Given the description of an element on the screen output the (x, y) to click on. 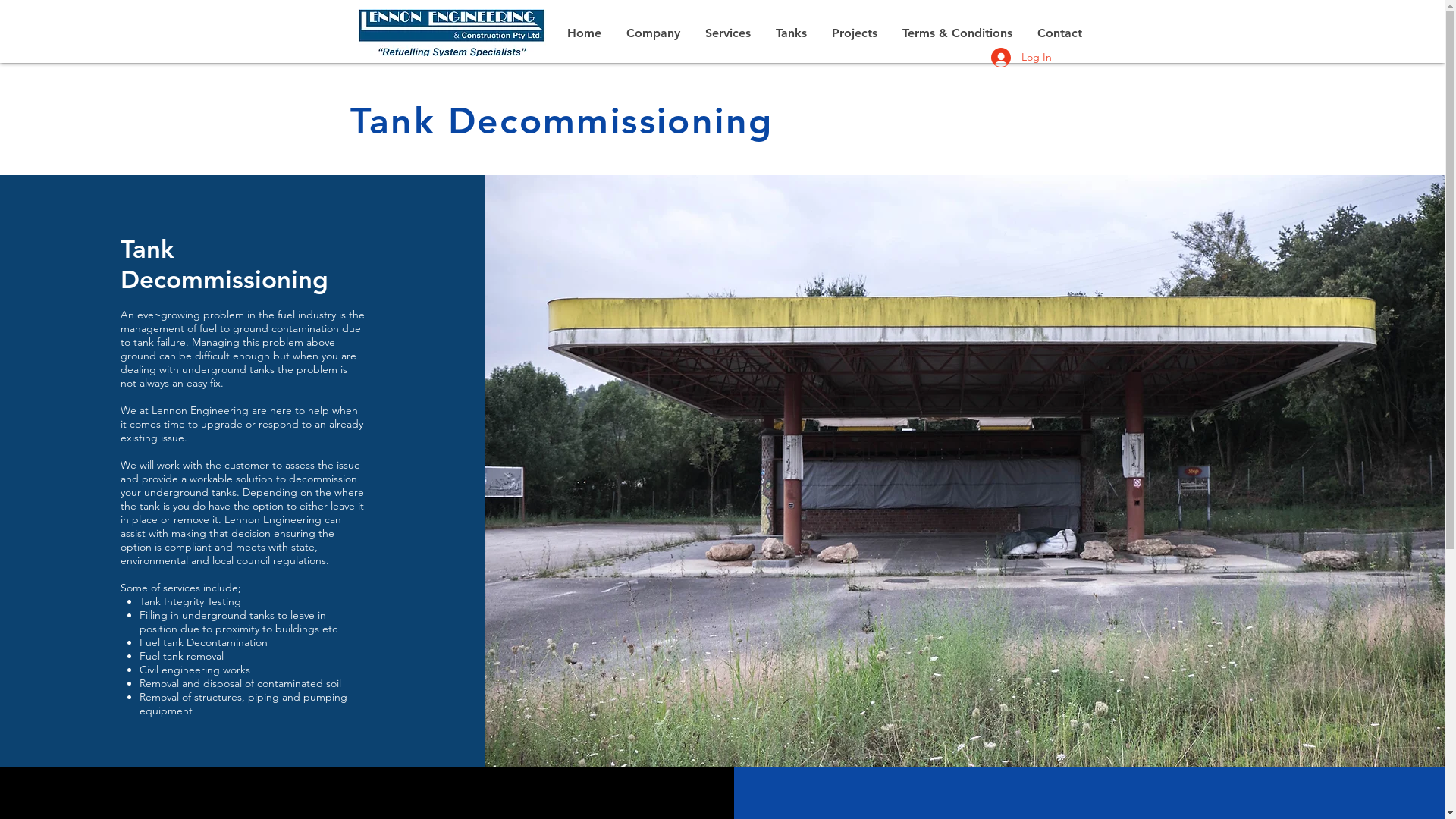
Contact Element type: text (1058, 32)
Log In Element type: text (1020, 57)
Tanks Element type: text (790, 32)
Home Element type: text (584, 32)
Projects Element type: text (854, 32)
Services Element type: text (726, 32)
Company Element type: text (651, 32)
Terms & Conditions Element type: text (955, 32)
